Given the description of an element on the screen output the (x, y) to click on. 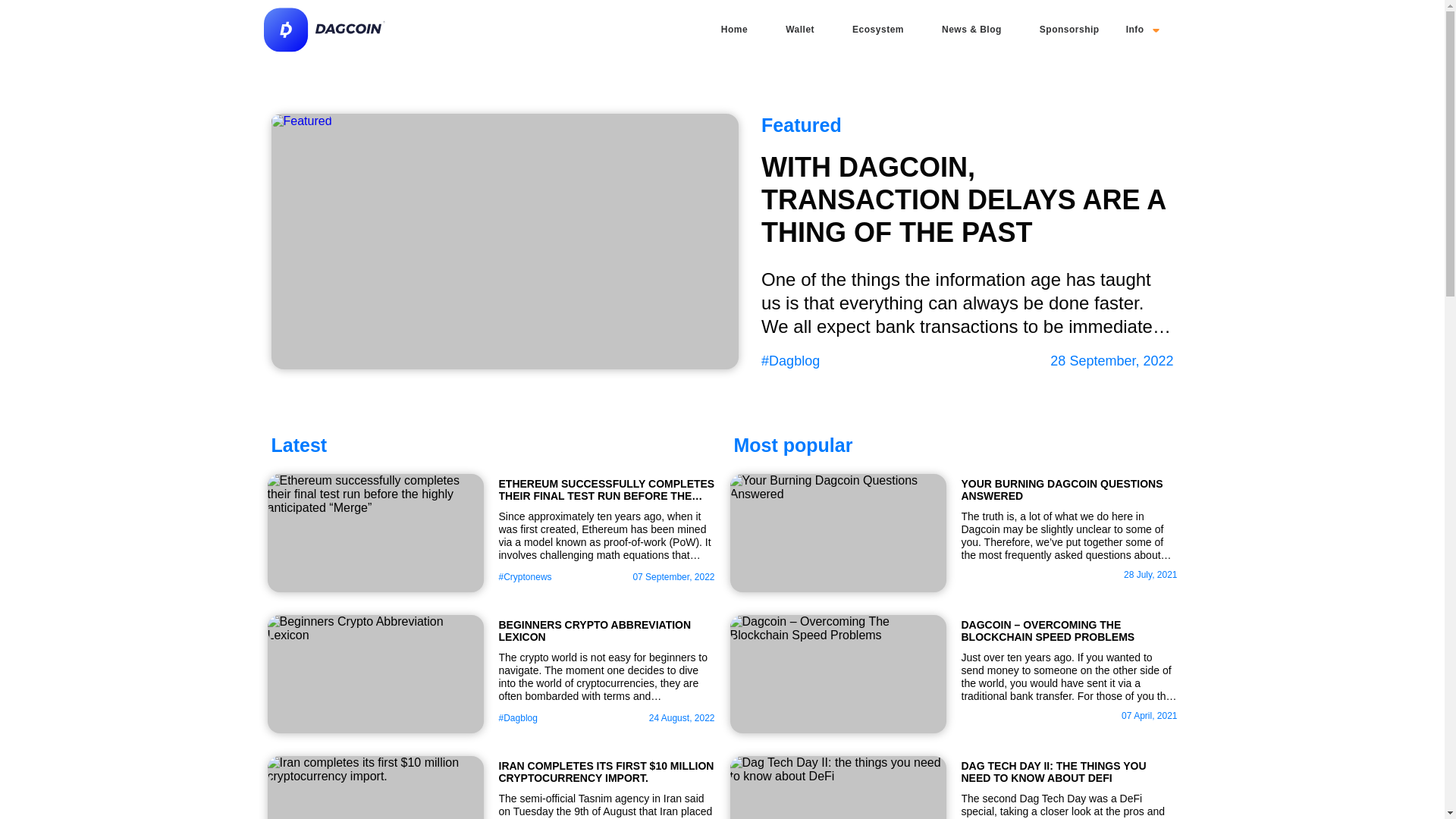
LogoCreated with Sketch. (324, 29)
Home (734, 29)
Sponsorship (1069, 29)
Wallet (799, 29)
Ecosystem (877, 29)
Info  (1142, 29)
LogoCreated with Sketch. (324, 50)
